Given the description of an element on the screen output the (x, y) to click on. 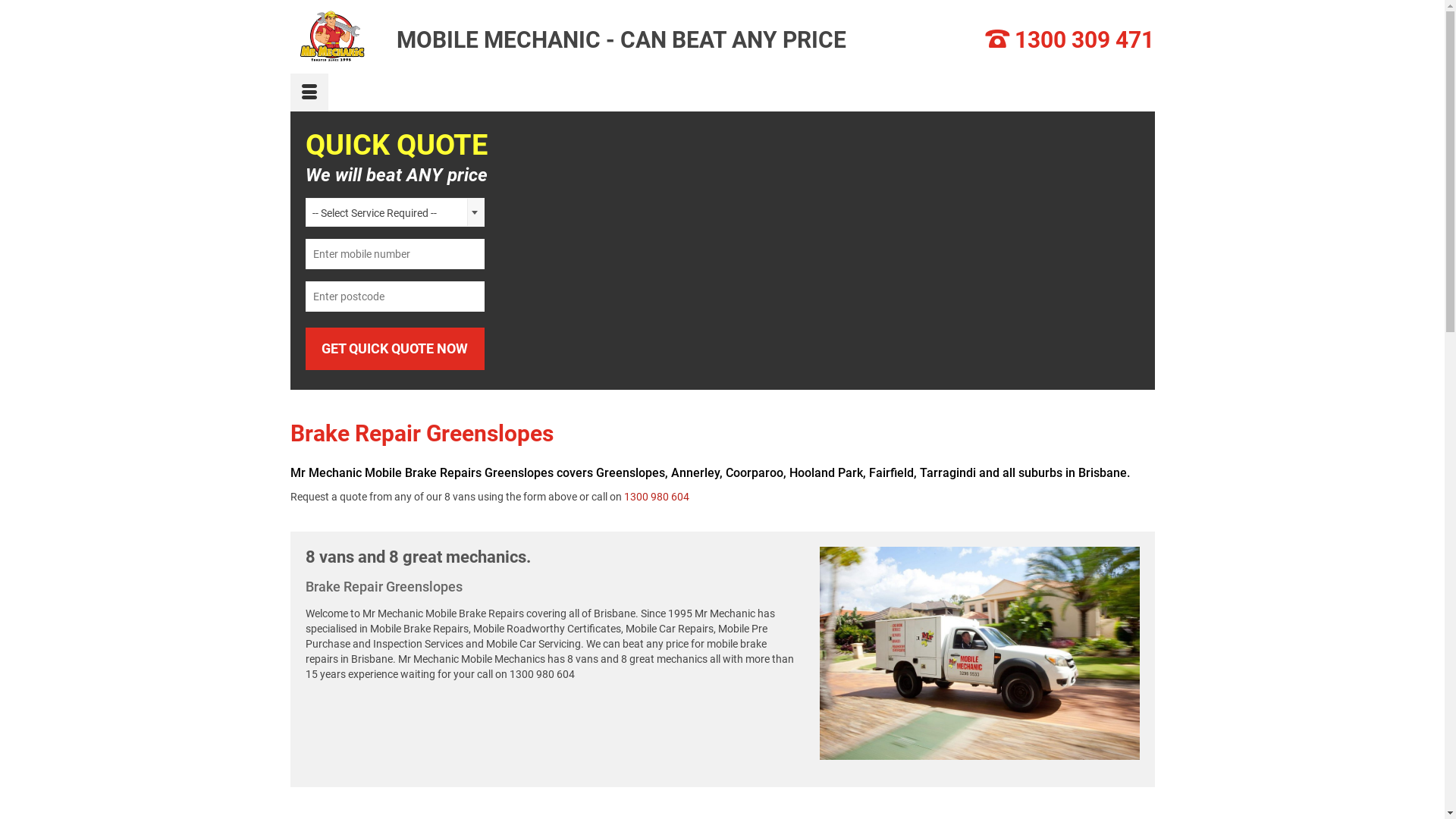
GET QUICK QUOTE NOW Element type: text (393, 348)
1300 309 471 Element type: text (1084, 39)
1300 980 604 Element type: text (655, 496)
Menu Element type: hover (308, 92)
